Given the description of an element on the screen output the (x, y) to click on. 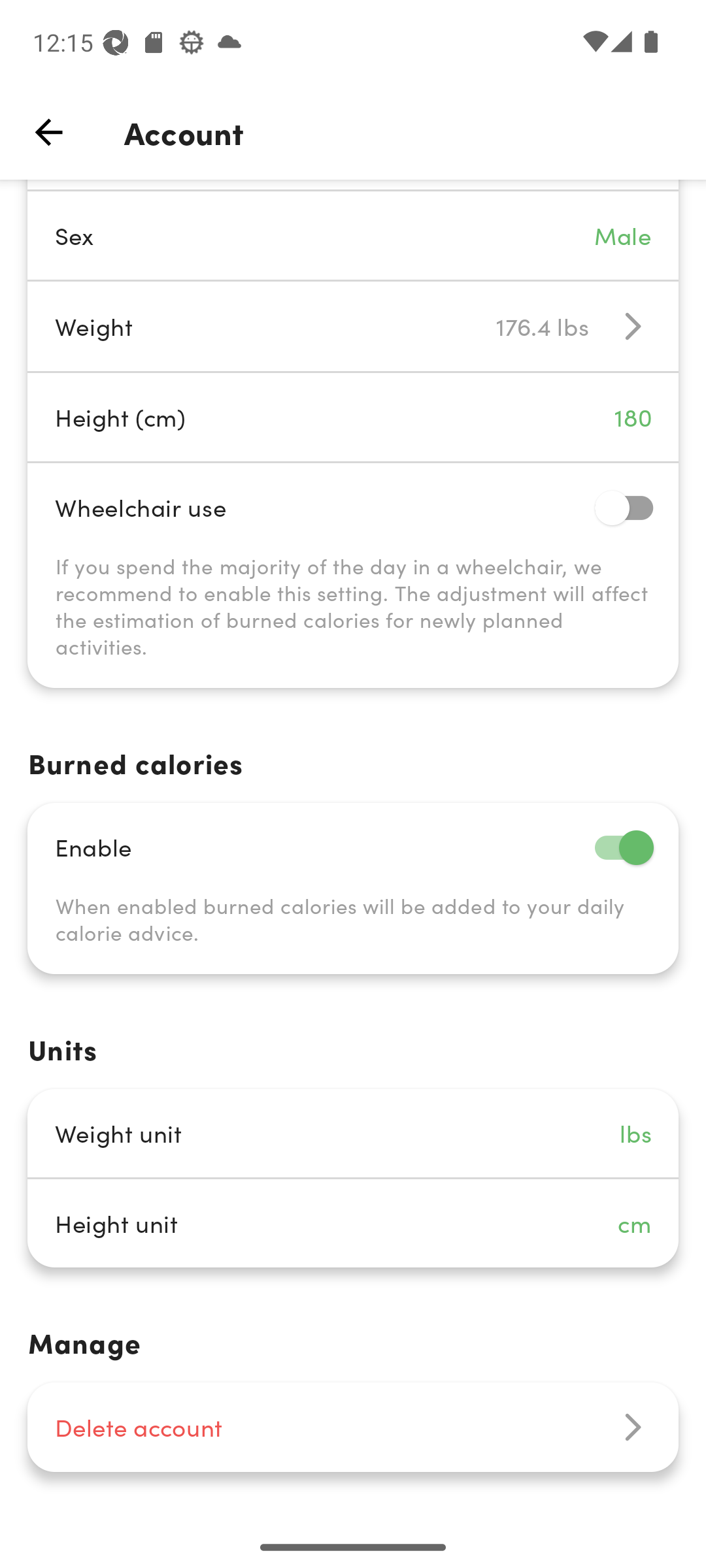
top_left_action (48, 132)
Sex Male (352, 235)
Weight 176.4 lbs (352, 326)
Height (cm) 180 (352, 416)
Wheelchair use (352, 506)
Enable (352, 846)
Weight unit lbs (352, 1133)
Height unit cm (352, 1222)
Delete account (352, 1427)
